Given the description of an element on the screen output the (x, y) to click on. 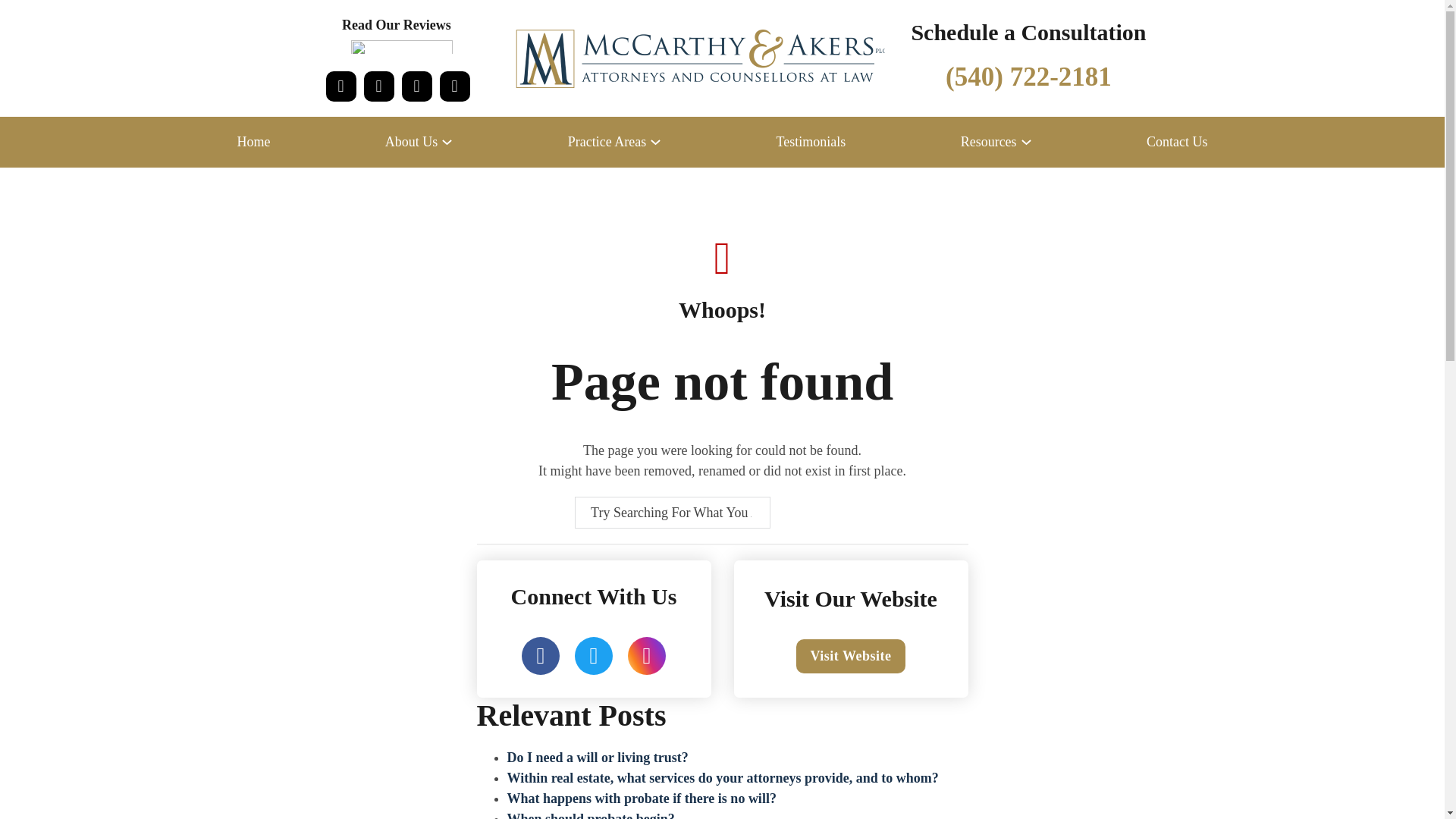
Visit our Facebook profile (341, 86)
Resources (988, 141)
Read Our Reviews (401, 35)
About Us (411, 141)
Practice Areas (606, 141)
Visit our Instagram profile (416, 86)
Visit our LinkedIn profile (379, 86)
Contact Us (1177, 141)
Home (252, 141)
Visit our Google profile (454, 86)
Testimonials (810, 141)
Read Our Reviews (401, 35)
